Given the description of an element on the screen output the (x, y) to click on. 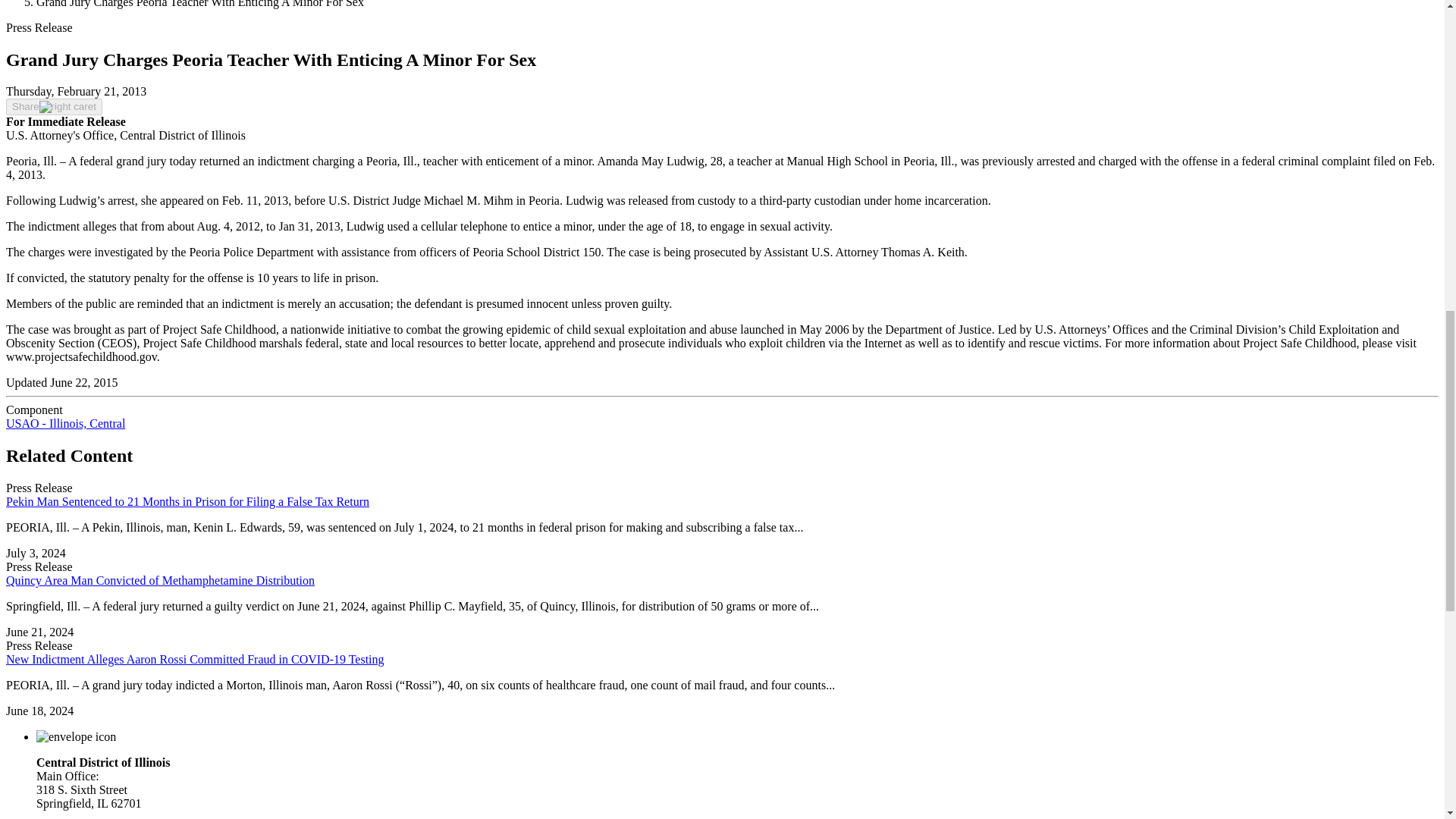
Share (53, 106)
USAO - Illinois, Central (65, 422)
